Given the description of an element on the screen output the (x, y) to click on. 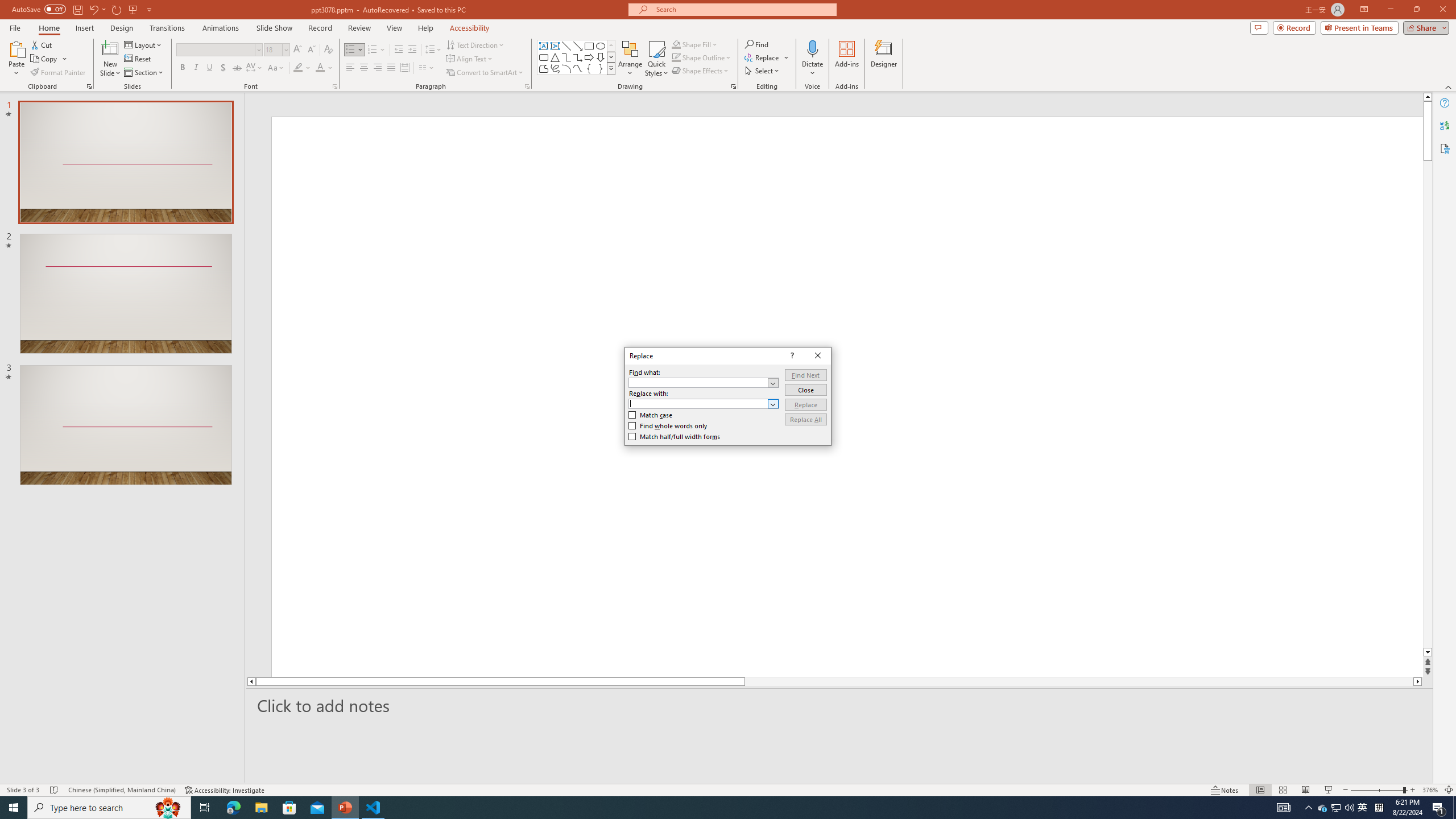
Increase Indent (412, 49)
Columns (426, 67)
Dictate (812, 48)
Bullets (354, 49)
Justify (390, 67)
Rectangle: Rounded Corners (543, 57)
Convert to SmartArt (485, 72)
Line Spacing (433, 49)
Format Object... (733, 85)
Reset (138, 58)
Type here to search (108, 807)
